Given the description of an element on the screen output the (x, y) to click on. 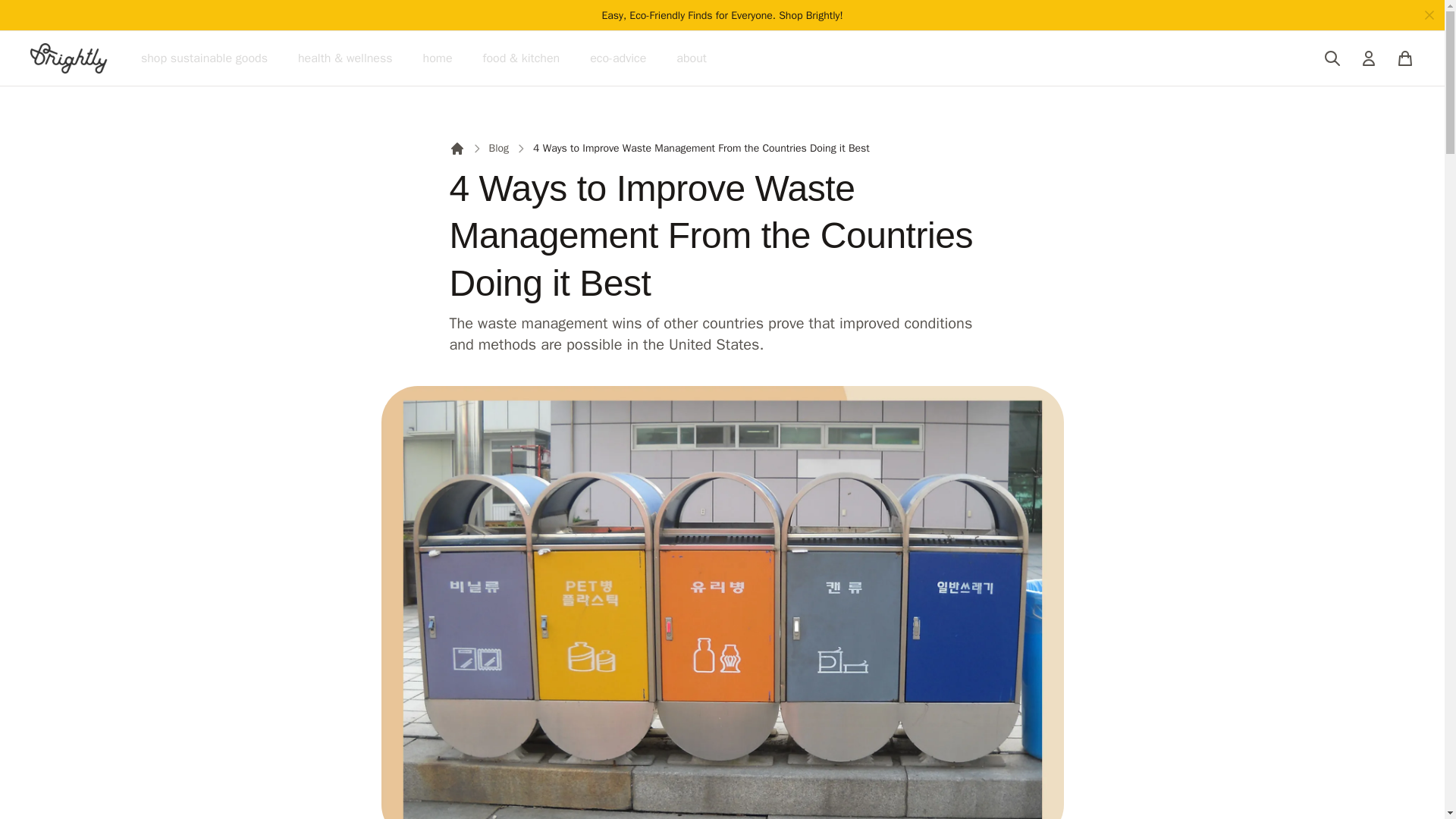
eco-advice (617, 58)
about (691, 58)
Cart (1404, 58)
Blog (497, 148)
home (437, 58)
shop sustainable goods (204, 58)
Home (456, 148)
Account (1368, 58)
Search (1331, 58)
